Given the description of an element on the screen output the (x, y) to click on. 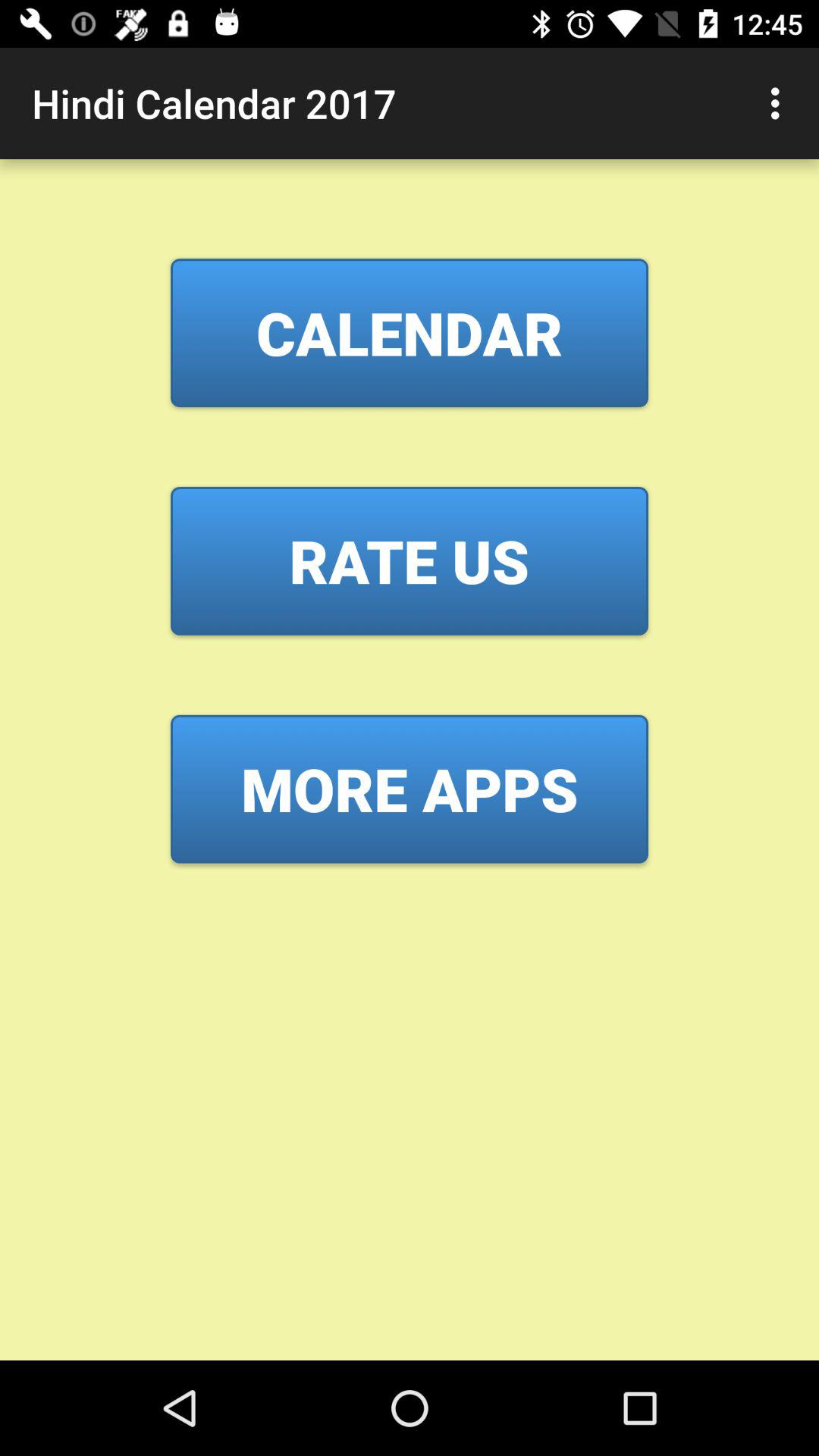
select item at the top right corner (779, 103)
